Given the description of an element on the screen output the (x, y) to click on. 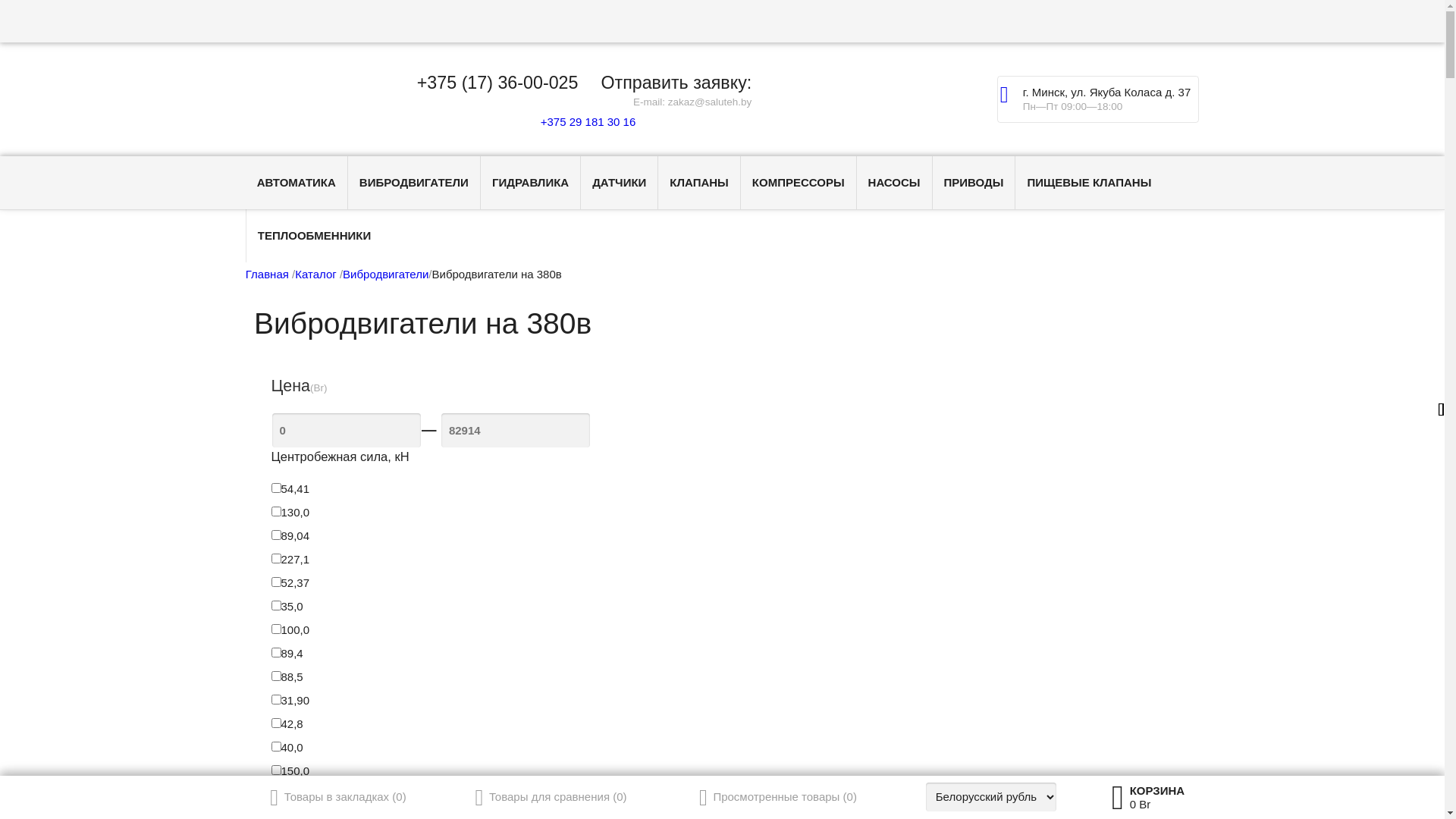
E-mail: zakaz@saluteh.by Element type: text (692, 101)
+375 29 181 30 16 Element type: text (584, 121)
+375 (17) 36-00-025 Element type: text (497, 82)
